Given the description of an element on the screen output the (x, y) to click on. 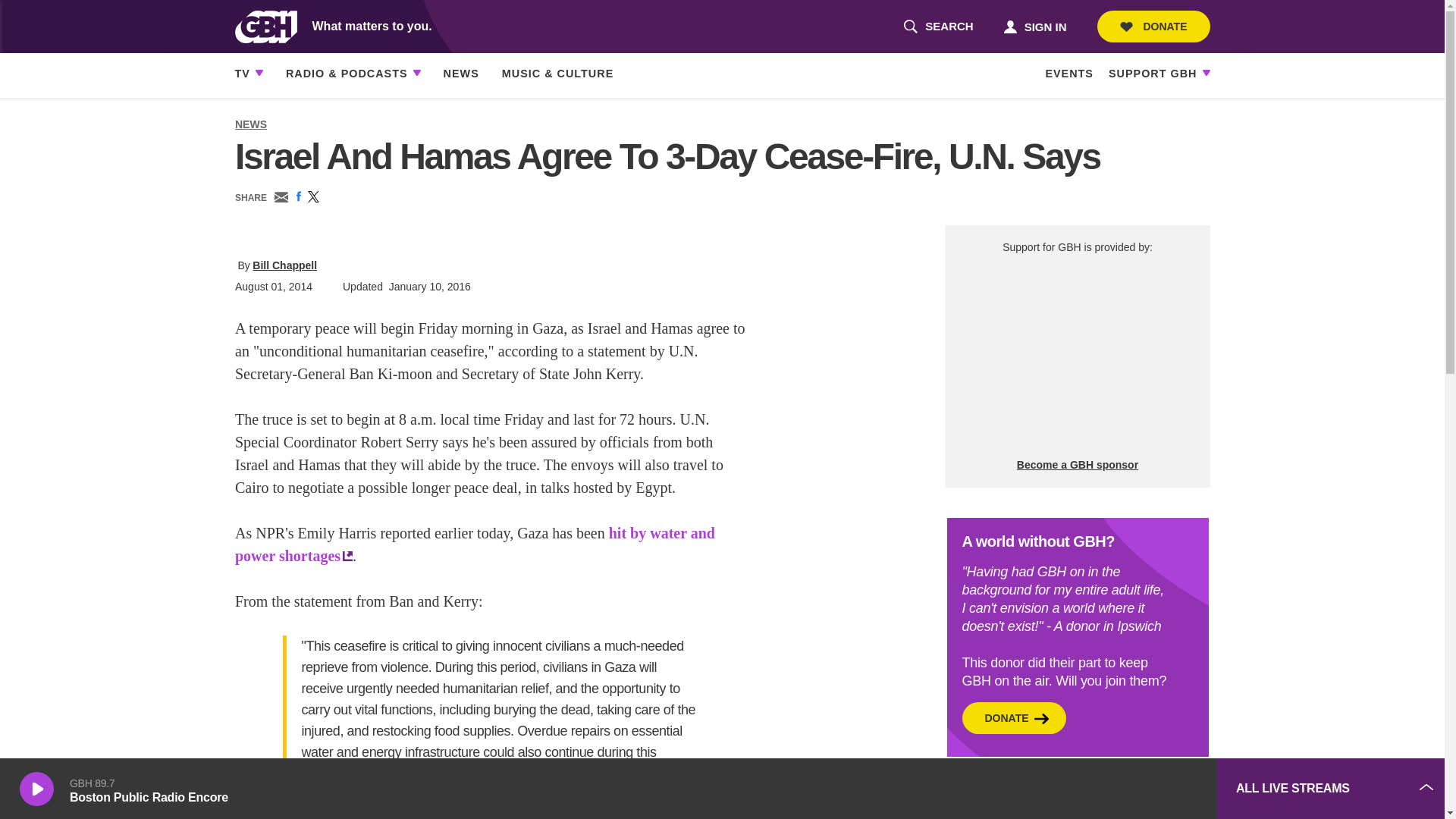
3rd party ad content (937, 26)
SIGN IN (1076, 356)
3rd party ad content (1034, 25)
DONATE (1091, 788)
